Given the description of an element on the screen output the (x, y) to click on. 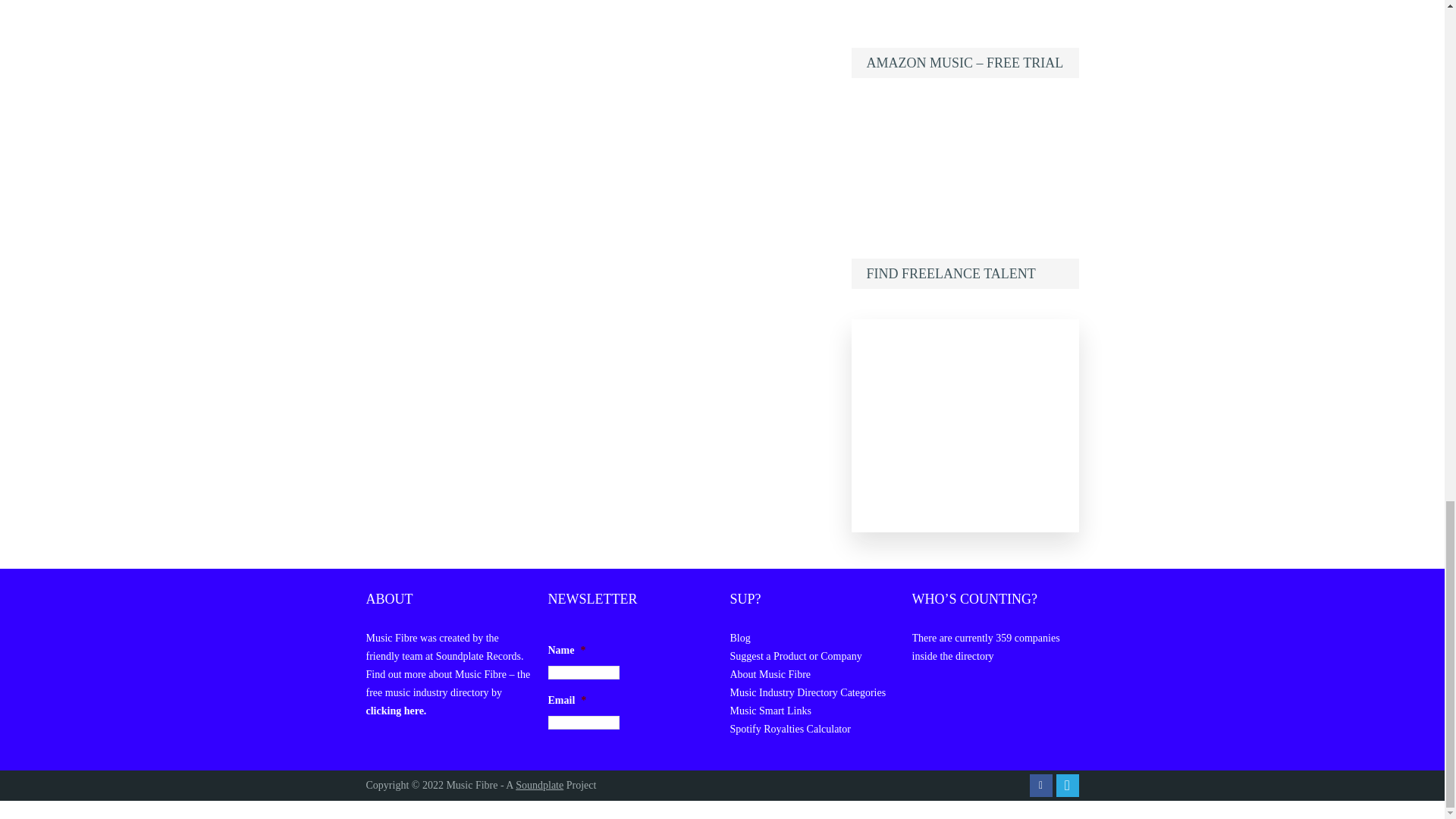
Soundplate Records (478, 655)
Facebook (1040, 784)
Suggest a Product or Company (795, 655)
Sign me up! (572, 762)
Spotify Royalties Calculator (789, 728)
Blog (739, 637)
Music Smart Links (769, 710)
Music Industry Directory Categories (807, 692)
Twitter (1066, 784)
clicking here. (395, 710)
